Given the description of an element on the screen output the (x, y) to click on. 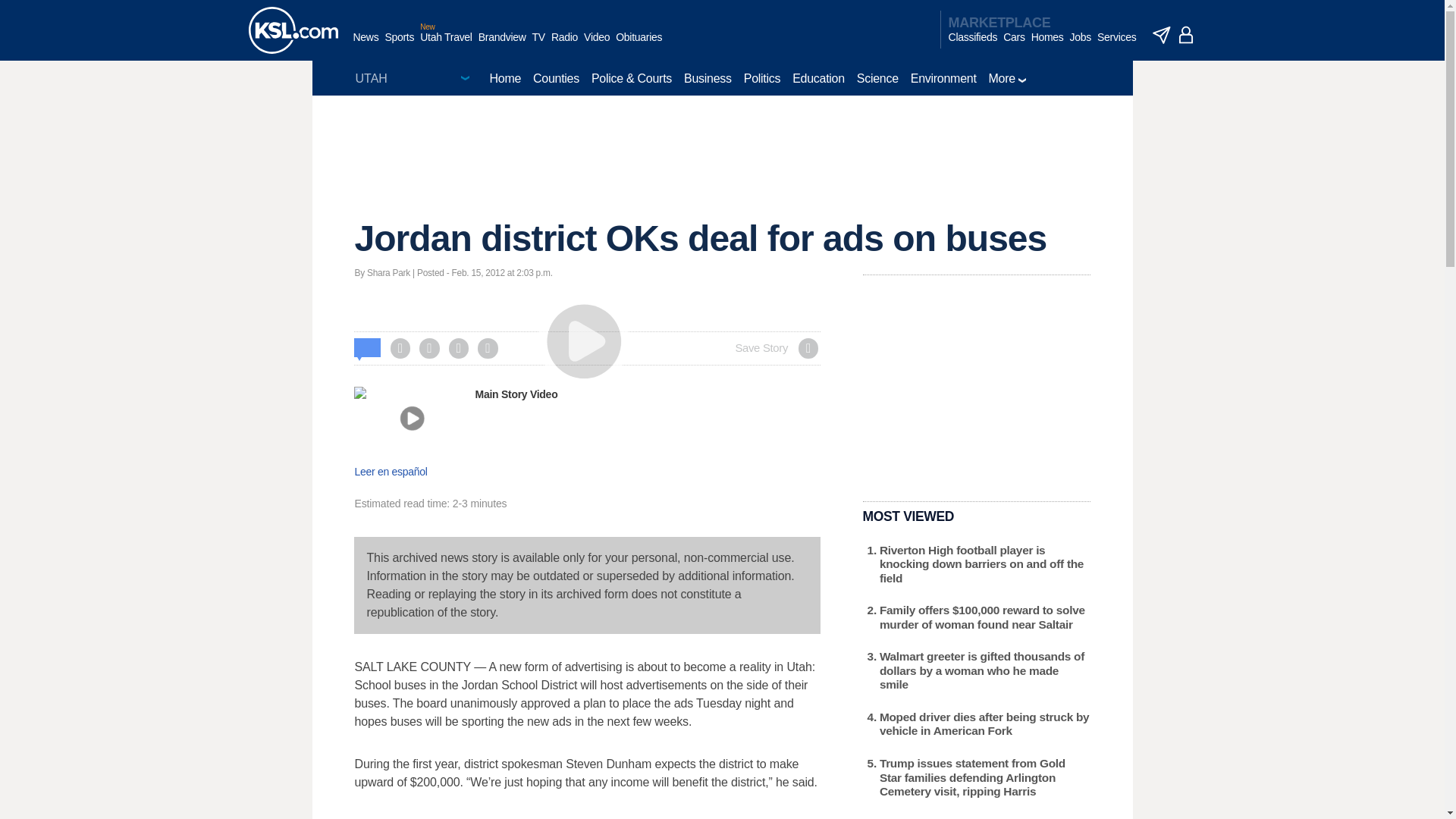
Utah Travel (445, 45)
account - logged out (1185, 34)
KSL homepage (292, 29)
KSL homepage (292, 30)
Brandview (502, 45)
Sports (398, 45)
